Given the description of an element on the screen output the (x, y) to click on. 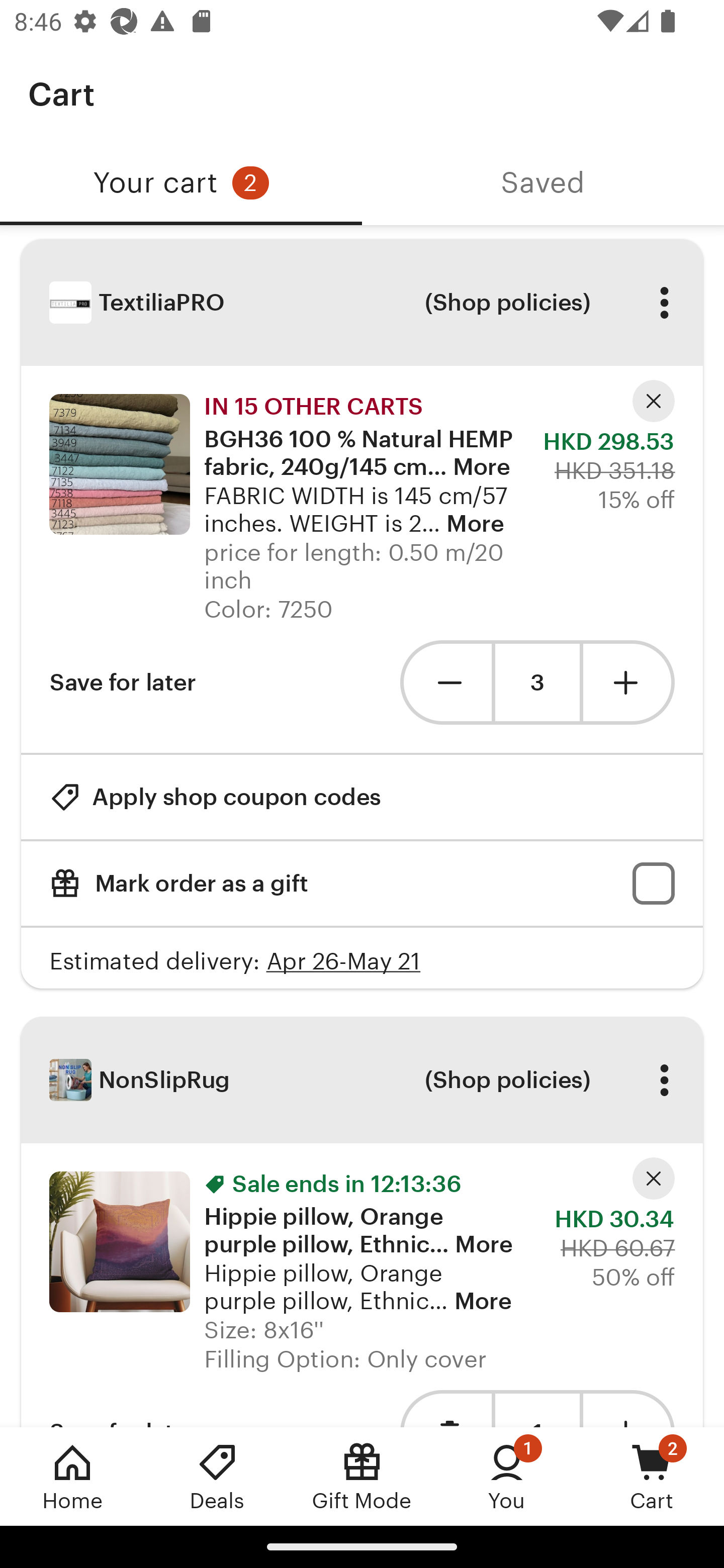
Saved, tab 2 of 2 Saved (543, 183)
TextiliaPRO (Shop policies) More options (361, 302)
(Shop policies) (507, 302)
More options (663, 302)
Save for later (122, 681)
Remove one unit from cart (445, 681)
Add one unit to cart (628, 681)
3 (537, 682)
Apply shop coupon codes (215, 796)
Mark order as a gift (361, 883)
NonSlipRug (Shop policies) More options (361, 1079)
(Shop policies) (507, 1080)
More options (663, 1080)
Home (72, 1475)
Deals (216, 1475)
Gift Mode (361, 1475)
You, 1 new notification You (506, 1475)
